Given the description of an element on the screen output the (x, y) to click on. 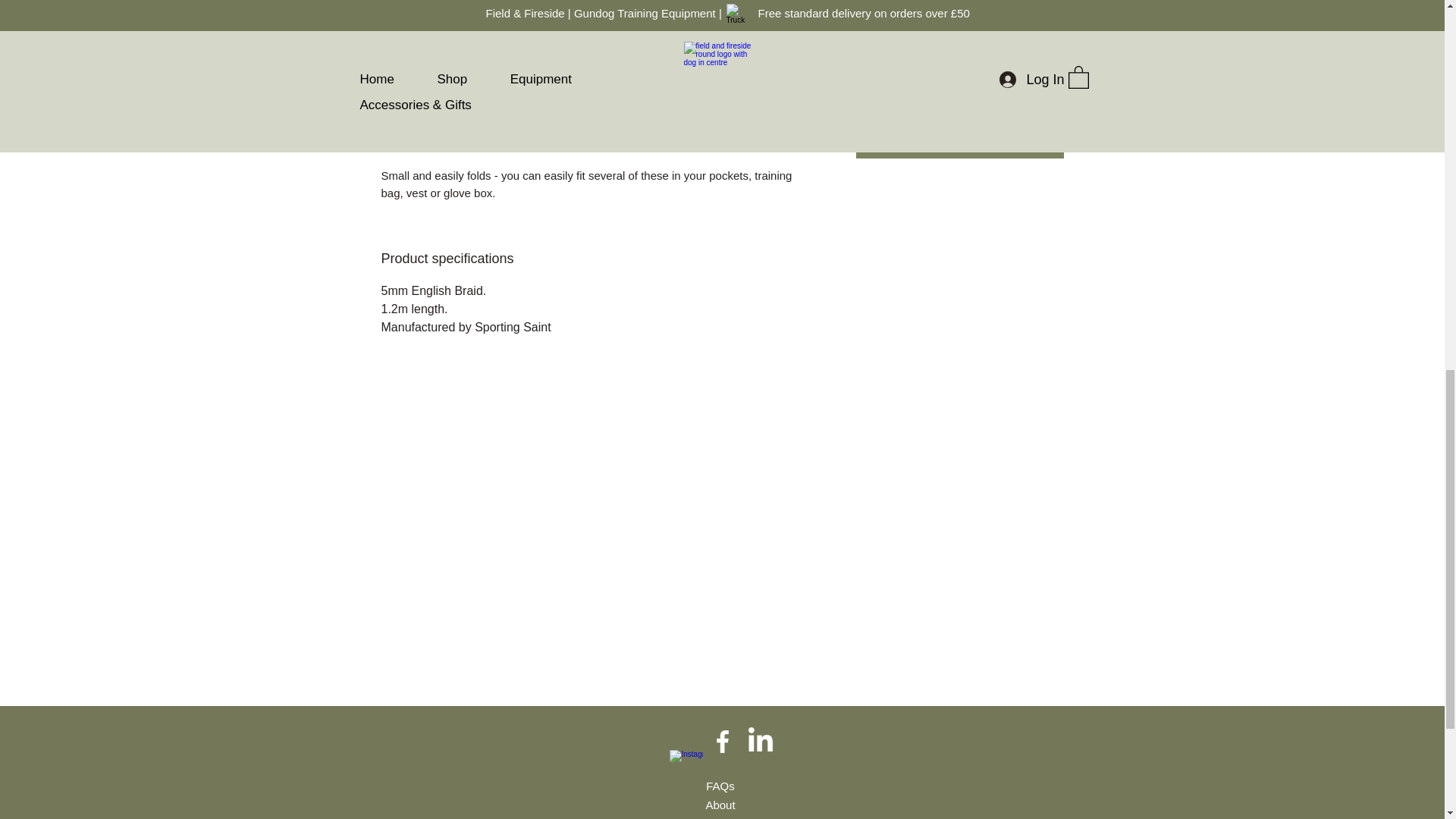
1 (893, 88)
